Given the description of an element on the screen output the (x, y) to click on. 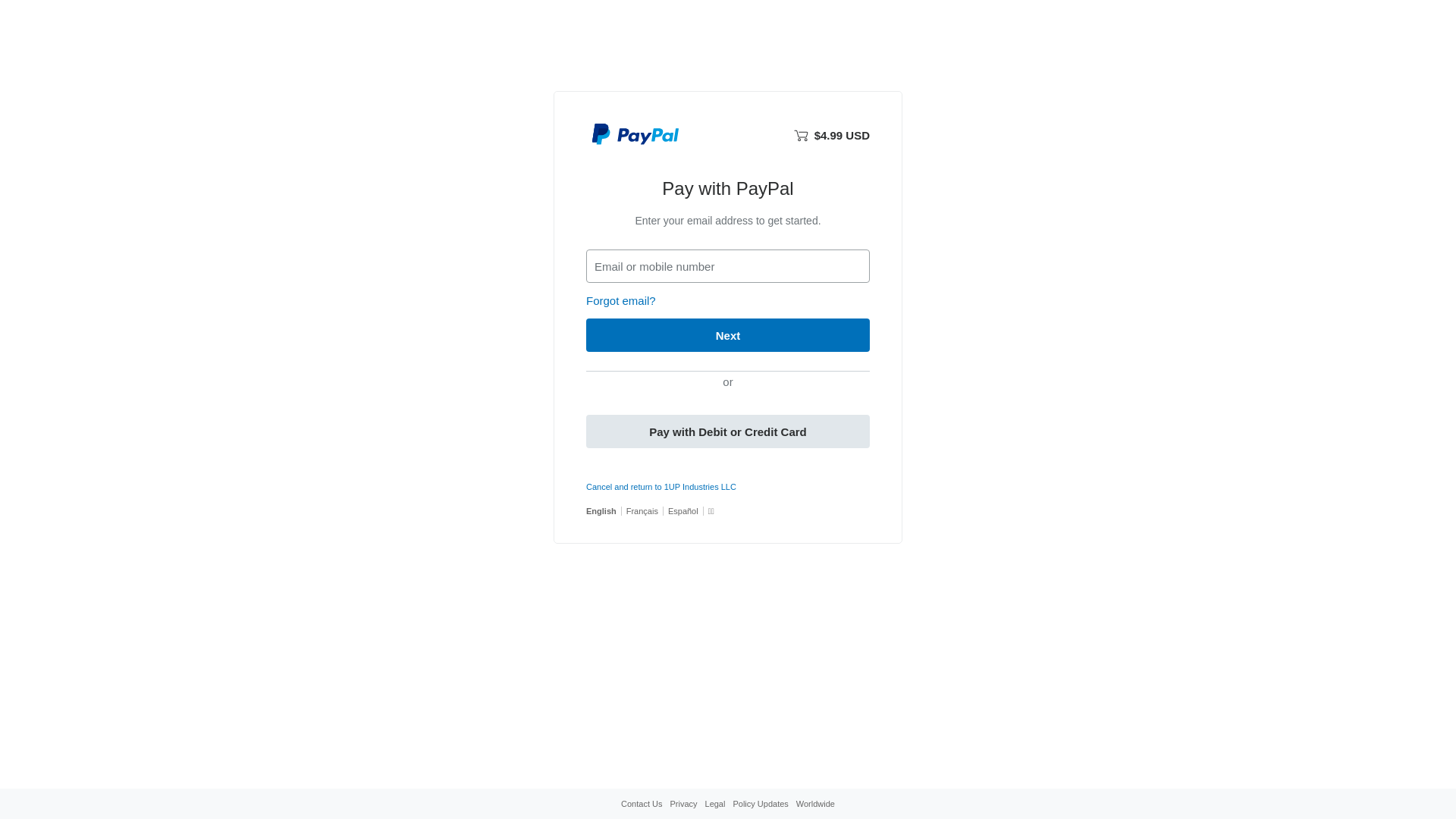
Policy Updates Element type: text (759, 803)
Contact Us Element type: text (641, 803)
Forgot email? Element type: text (620, 300)
Worldwide Element type: text (815, 803)
Next Element type: text (727, 334)
Privacy Element type: text (682, 803)
Legal Element type: text (715, 803)
Pay with Debit or Credit Card Element type: text (727, 431)
Login Element type: text (603, 368)
English Element type: text (601, 510)
Cancel and return to 1UP Industries LLC Element type: text (661, 486)
